Given the description of an element on the screen output the (x, y) to click on. 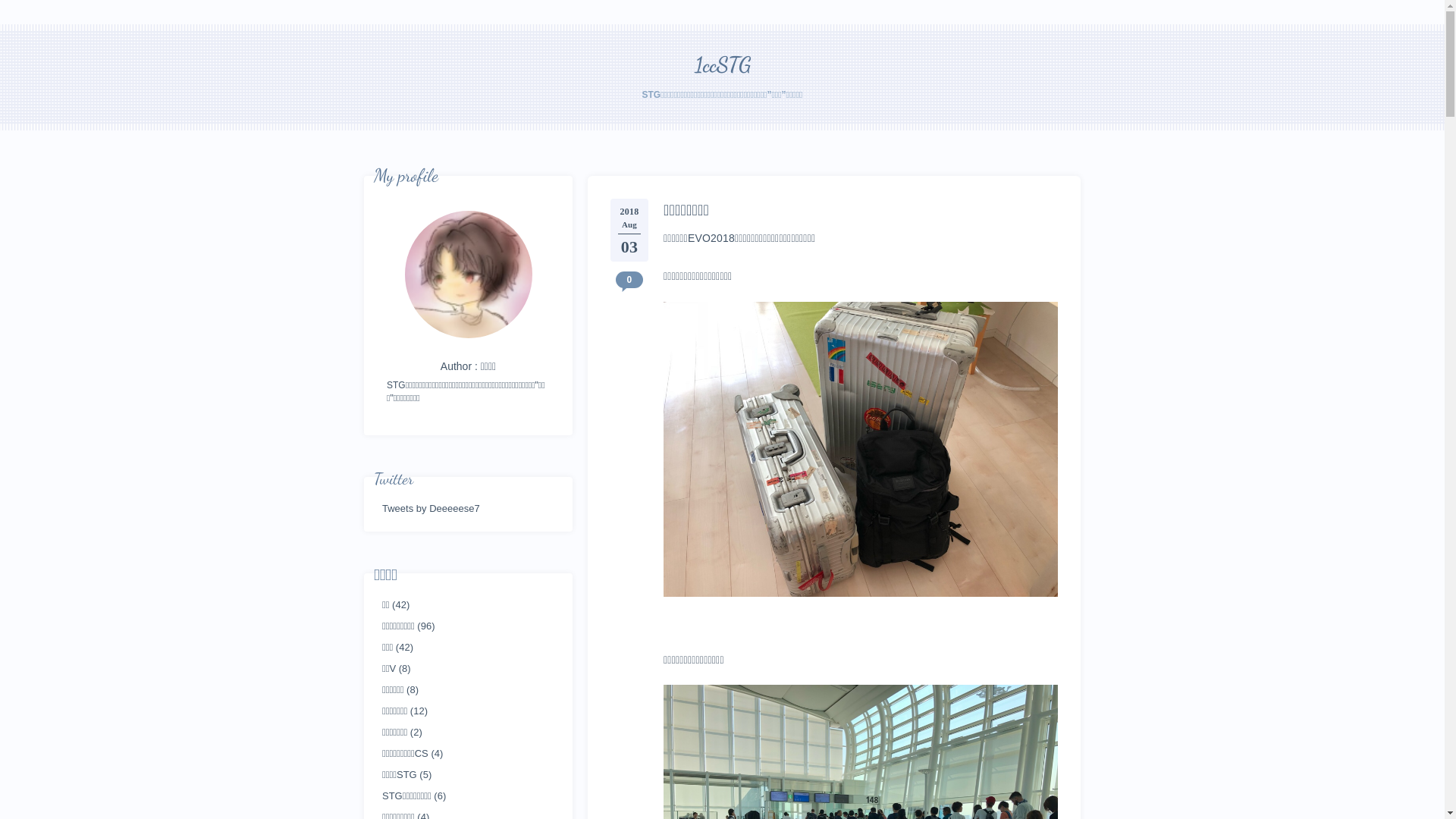
0 Element type: text (629, 279)
Tweets by Deeeeese7 Element type: text (431, 508)
1ccSTG Element type: text (722, 64)
